Given the description of an element on the screen output the (x, y) to click on. 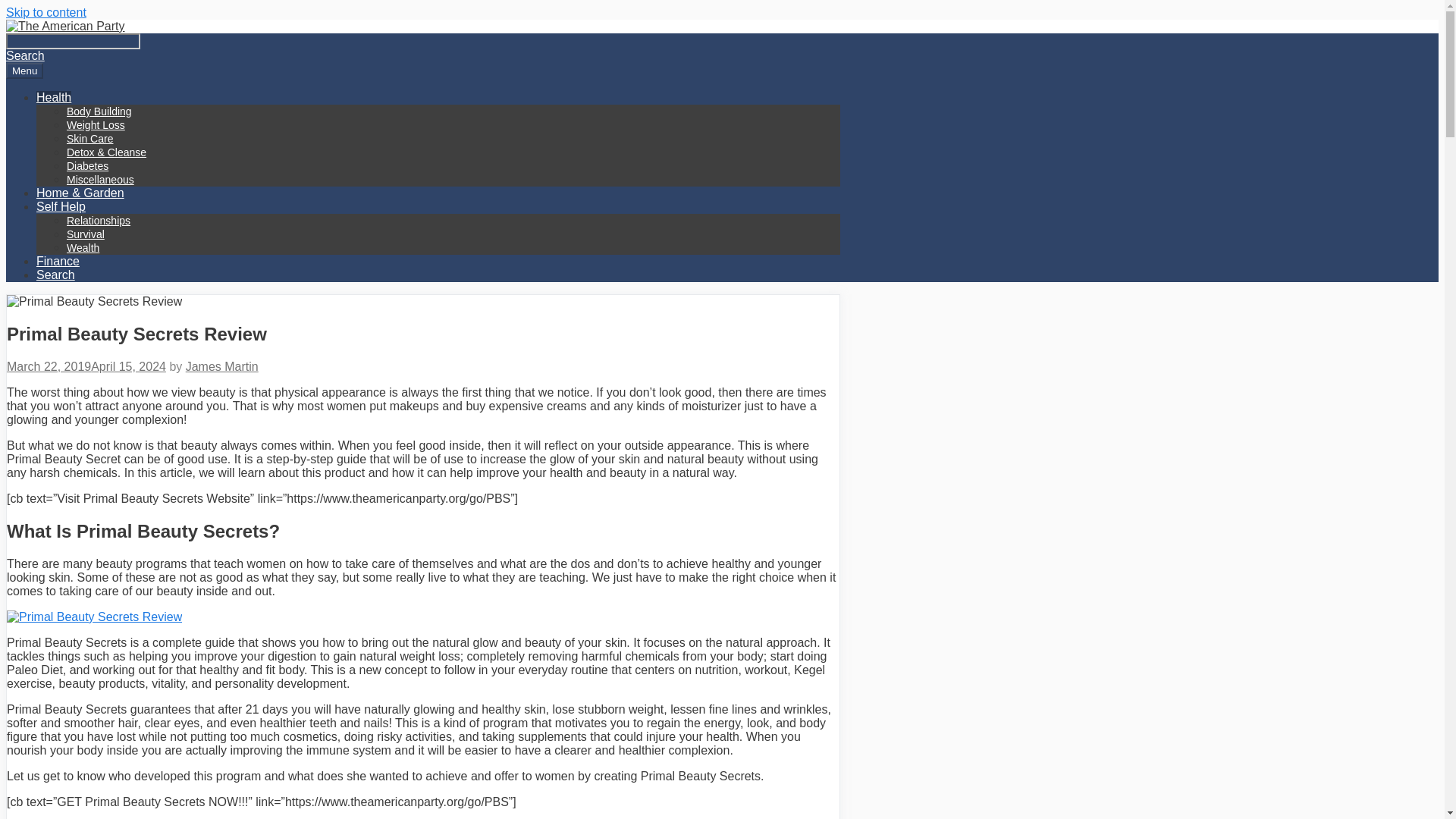
Health (53, 97)
Skip to content (45, 11)
Miscellaneous (99, 179)
Search (438, 274)
Survival (85, 234)
Menu (24, 70)
Wealth (82, 247)
Relationships (98, 220)
Weight Loss (95, 124)
Search (72, 41)
Search (55, 274)
Body Building (99, 111)
Skin Care (89, 138)
7:00 pm (86, 366)
Self Help (60, 205)
